Given the description of an element on the screen output the (x, y) to click on. 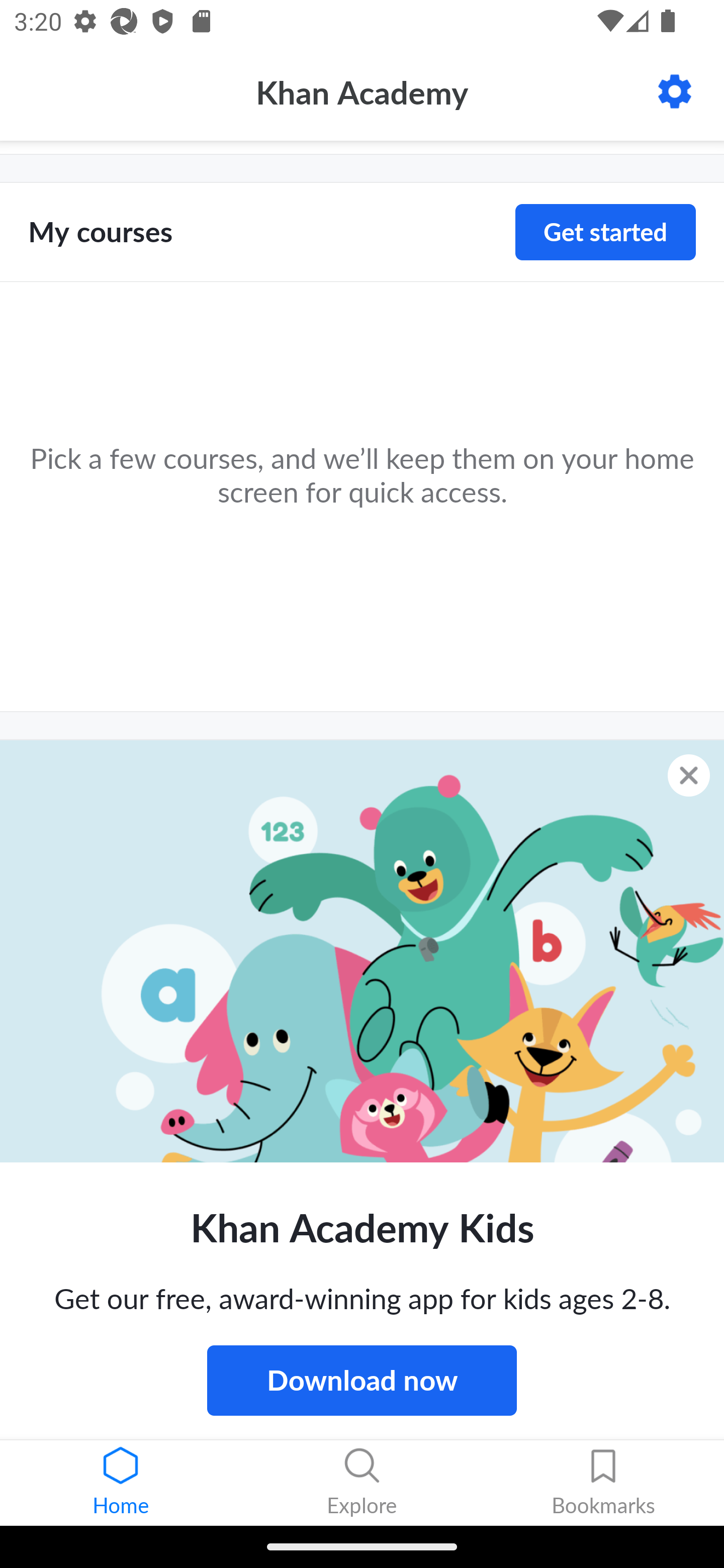
Settings (674, 91)
Get started (605, 231)
Dismiss (688, 775)
Download now (361, 1380)
Home (120, 1482)
Explore (361, 1482)
Bookmarks (603, 1482)
